Given the description of an element on the screen output the (x, y) to click on. 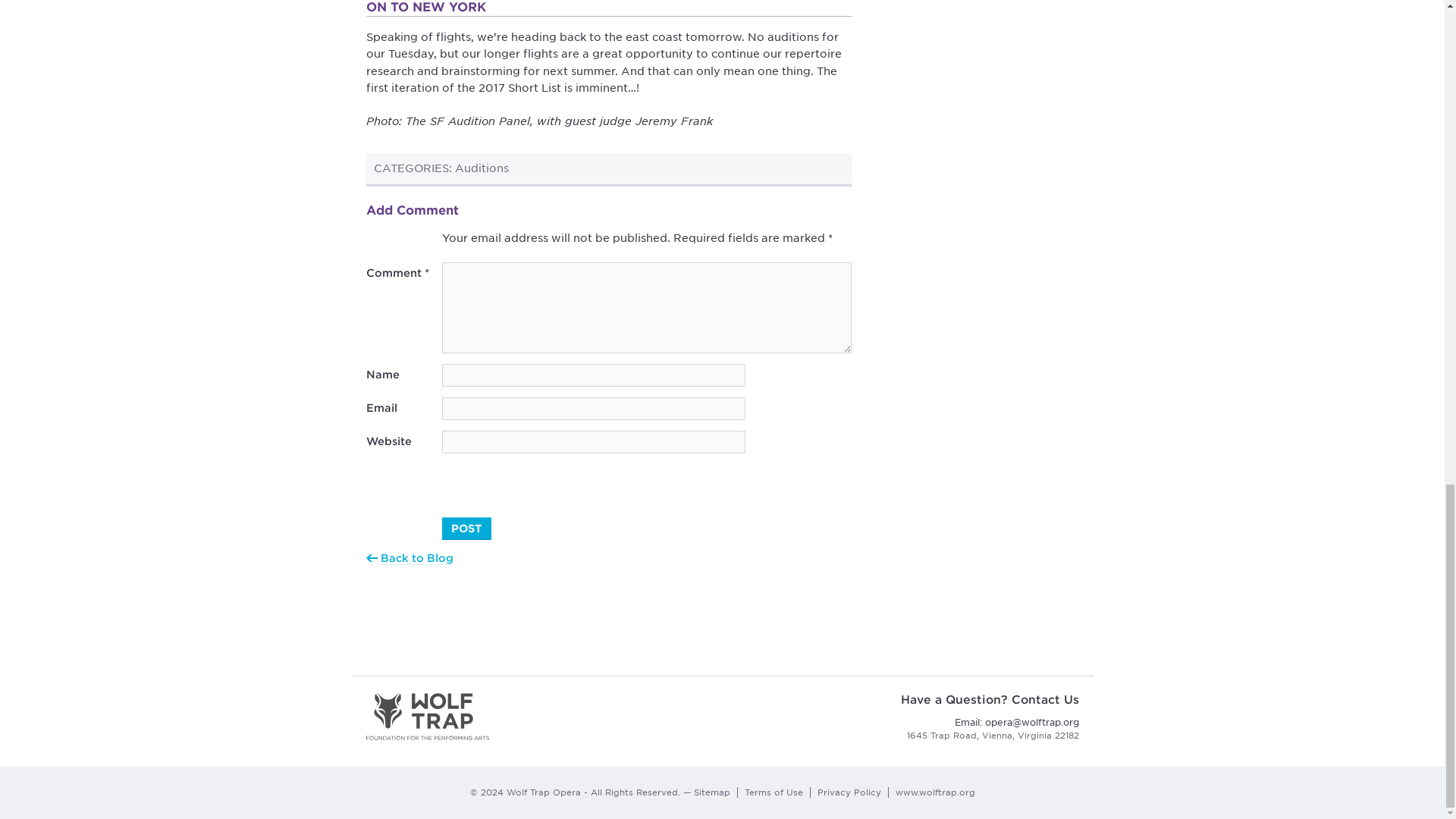
www.wolftrap.org (934, 792)
Wolf Trap (427, 715)
Privacy Policy (848, 792)
Sitemap (711, 792)
Post (465, 527)
Back to Blog (416, 558)
Terms of Use (773, 792)
Auditions (481, 168)
Post (465, 527)
